Given the description of an element on the screen output the (x, y) to click on. 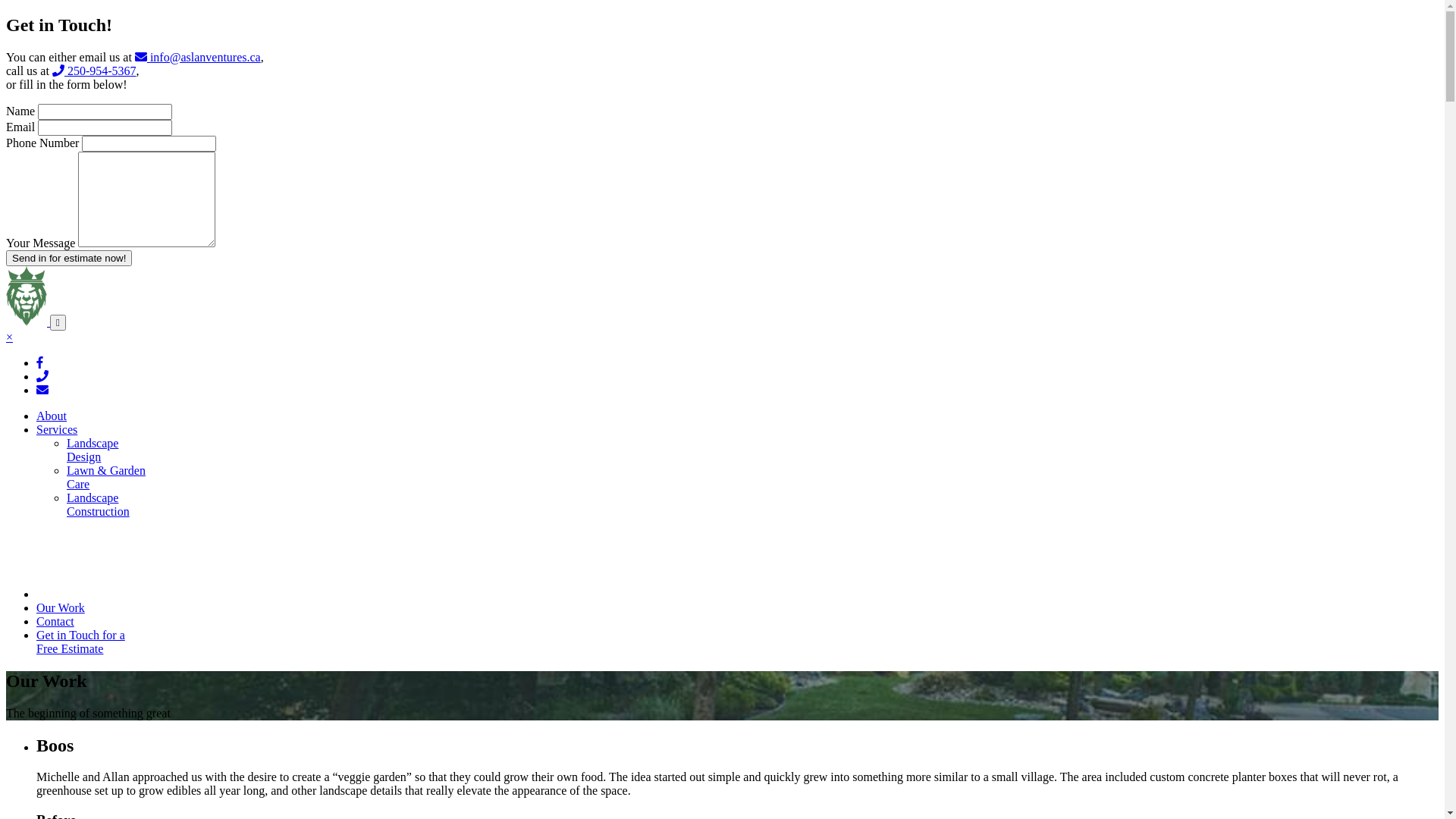
About Element type: text (51, 415)
Lawn & Garden
Care Element type: text (105, 477)
phone Element type: hover (42, 376)
info@aslanventures.ca Element type: text (197, 56)
facebook Element type: hover (39, 362)
email Element type: hover (42, 389)
250-954-5367 Element type: text (94, 70)
Services Element type: text (56, 429)
Send in for estimate now! Element type: text (68, 258)
Our Work Element type: text (60, 607)
Landscape
Design Element type: text (92, 449)
Contact Element type: text (55, 621)
Landscape
Construction Element type: text (97, 504)
Get in Touch for a
Free Estimate Element type: text (80, 641)
